Given the description of an element on the screen output the (x, y) to click on. 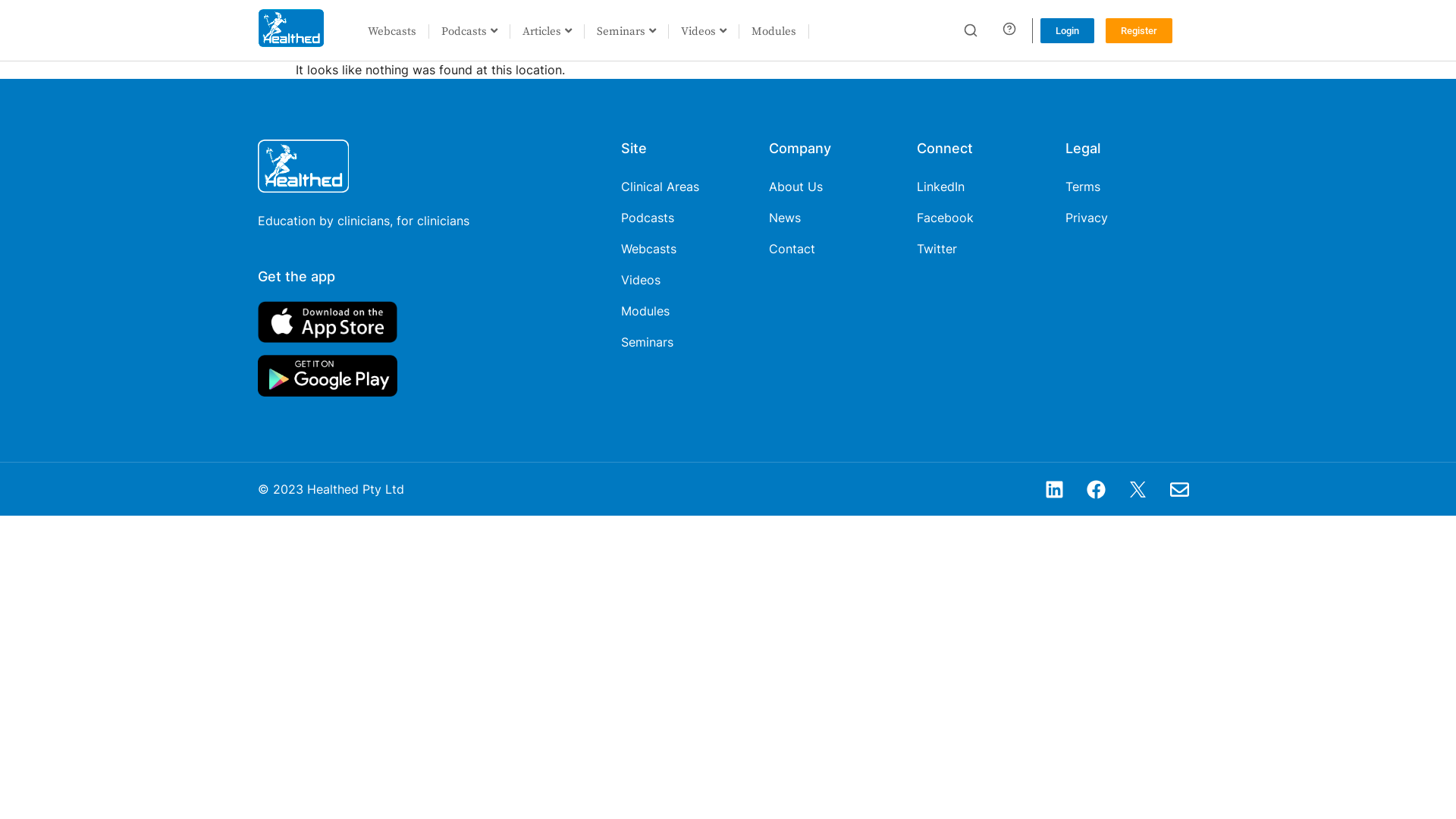
Seminars Element type: text (647, 341)
Register Element type: text (1138, 30)
About Us Element type: text (795, 186)
Contact Element type: text (791, 248)
Videos Element type: text (703, 31)
Modules Element type: text (774, 31)
Podcasts Element type: text (469, 31)
News Element type: text (784, 217)
Twitter Element type: text (936, 248)
Seminars Element type: text (626, 31)
Webcasts Element type: text (392, 31)
Facebook Element type: text (944, 217)
Privacy Element type: text (1086, 217)
Login Element type: text (1067, 30)
Articles Element type: text (547, 31)
Terms Element type: text (1082, 186)
Podcasts Element type: text (647, 217)
Videos Element type: text (640, 279)
Webcasts Element type: text (648, 248)
LinkedIn Element type: text (940, 186)
Modules Element type: text (645, 310)
Clinical Areas Element type: text (660, 186)
